Given the description of an element on the screen output the (x, y) to click on. 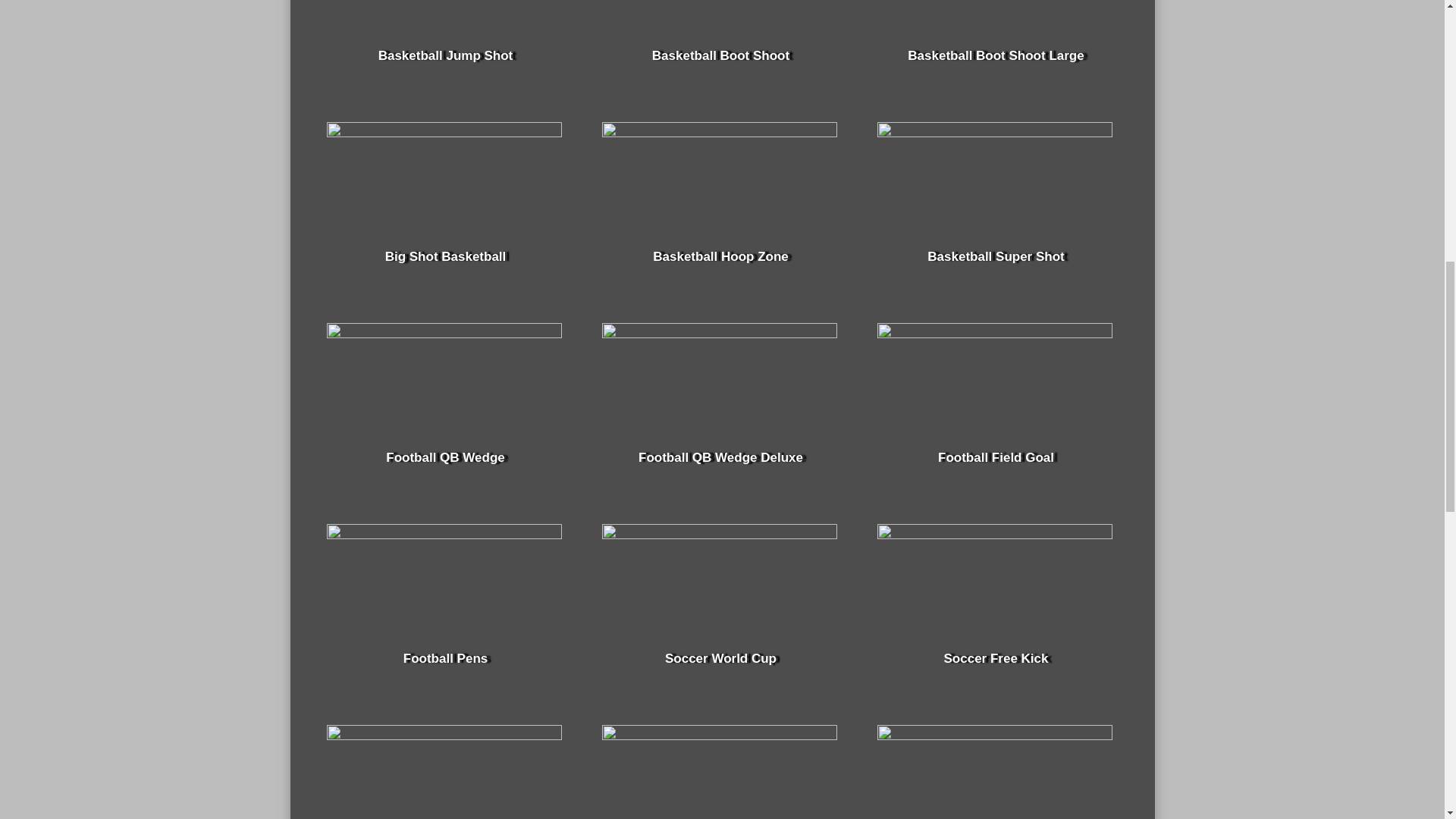
Basketball Hoop Zone (720, 256)
Football QB Wedge (444, 456)
Basketball Super Shot (995, 256)
Basketball Jump Shot (445, 54)
Basketball Boot Shoot (720, 54)
Basketball Boot Shoot Large (995, 54)
Big Shot Basketball (445, 256)
